Given the description of an element on the screen output the (x, y) to click on. 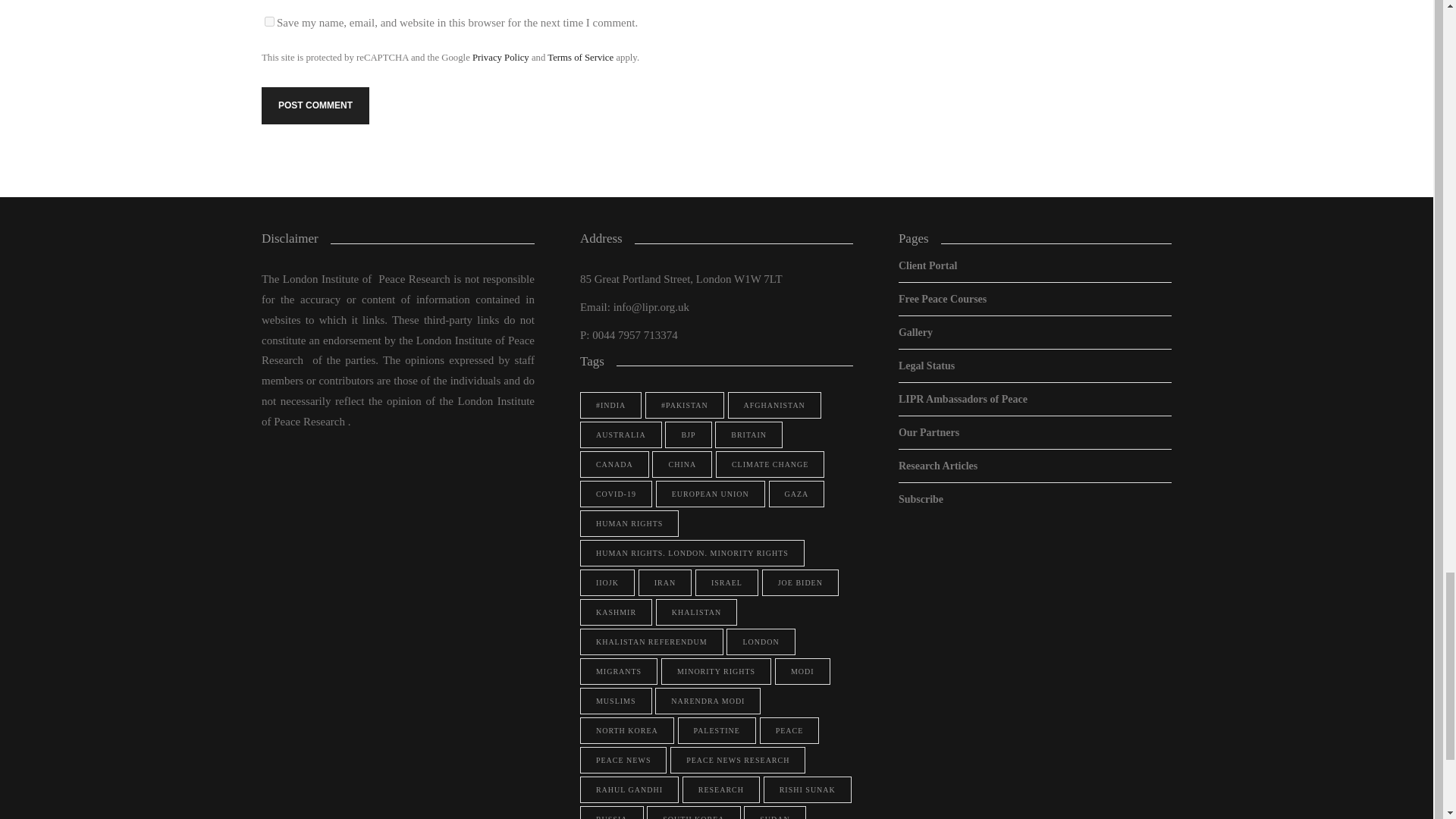
Post Comment (315, 105)
yes (269, 21)
